Given the description of an element on the screen output the (x, y) to click on. 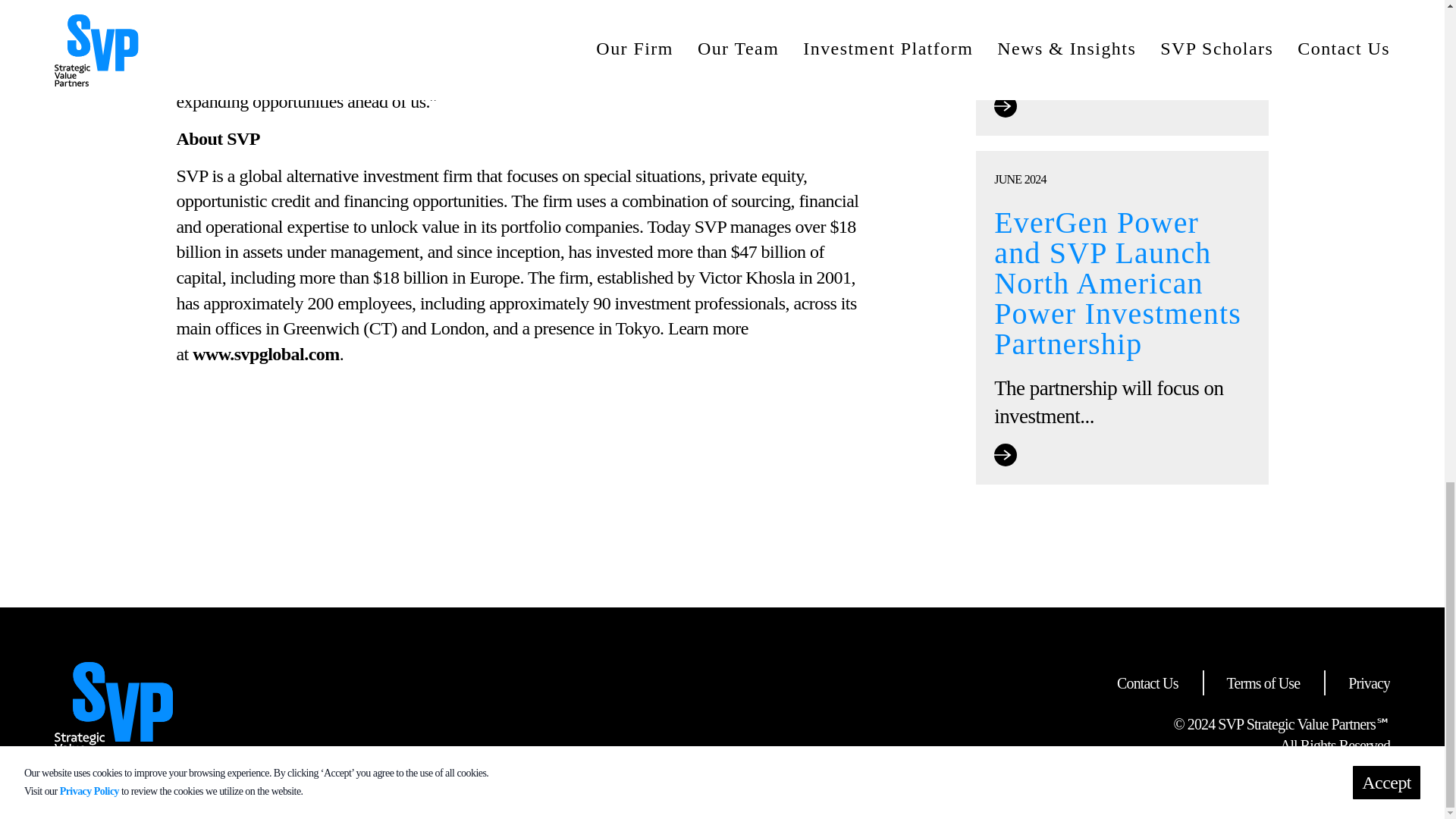
Terms of Use (1263, 682)
Privacy (1369, 682)
www.svpglobal.com (265, 353)
Contact Us (1146, 682)
